Given the description of an element on the screen output the (x, y) to click on. 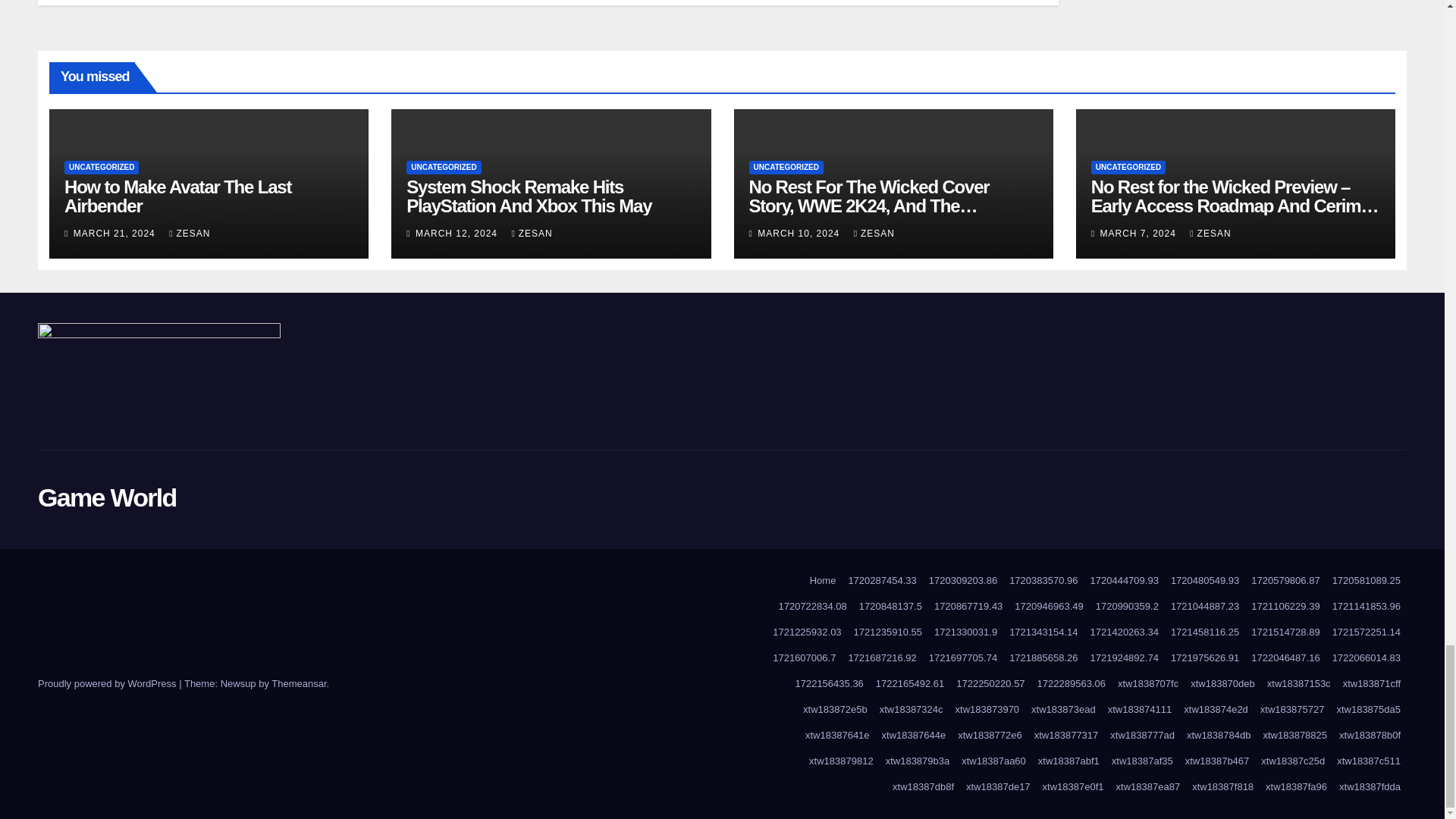
Home (823, 580)
Permalink to: How to Make Avatar The Last Airbender (177, 196)
